Given the description of an element on the screen output the (x, y) to click on. 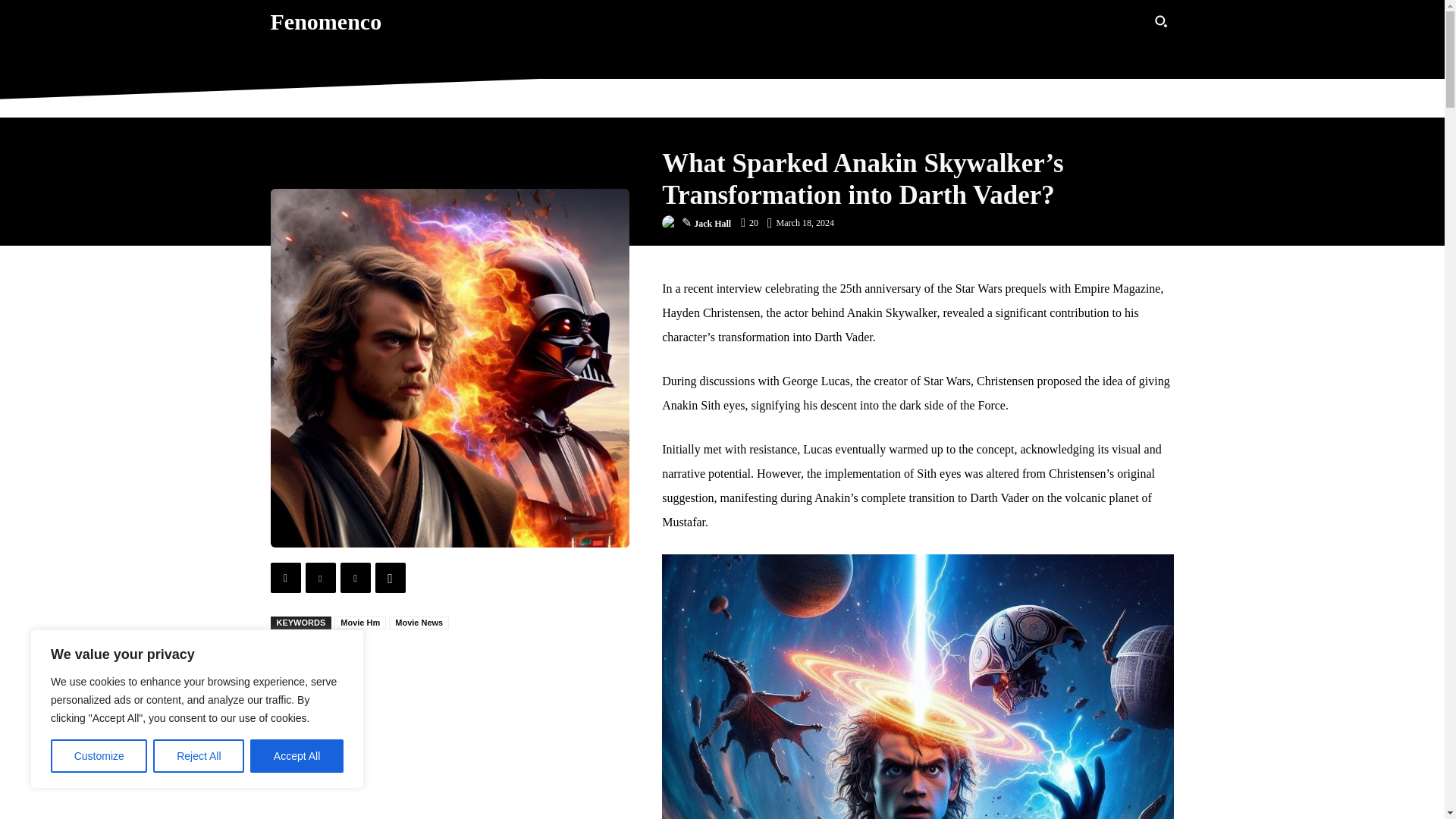
Anime (582, 52)
Jack Hall (671, 222)
WhatsApp (389, 577)
Facebook (284, 577)
Accept All (296, 756)
Customize (98, 756)
Pinterest (354, 577)
Twitter (319, 577)
Reject All (198, 756)
Netflix Originals (660, 52)
Gaming Legends Hub (770, 52)
Fenomenco (325, 21)
